Given the description of an element on the screen output the (x, y) to click on. 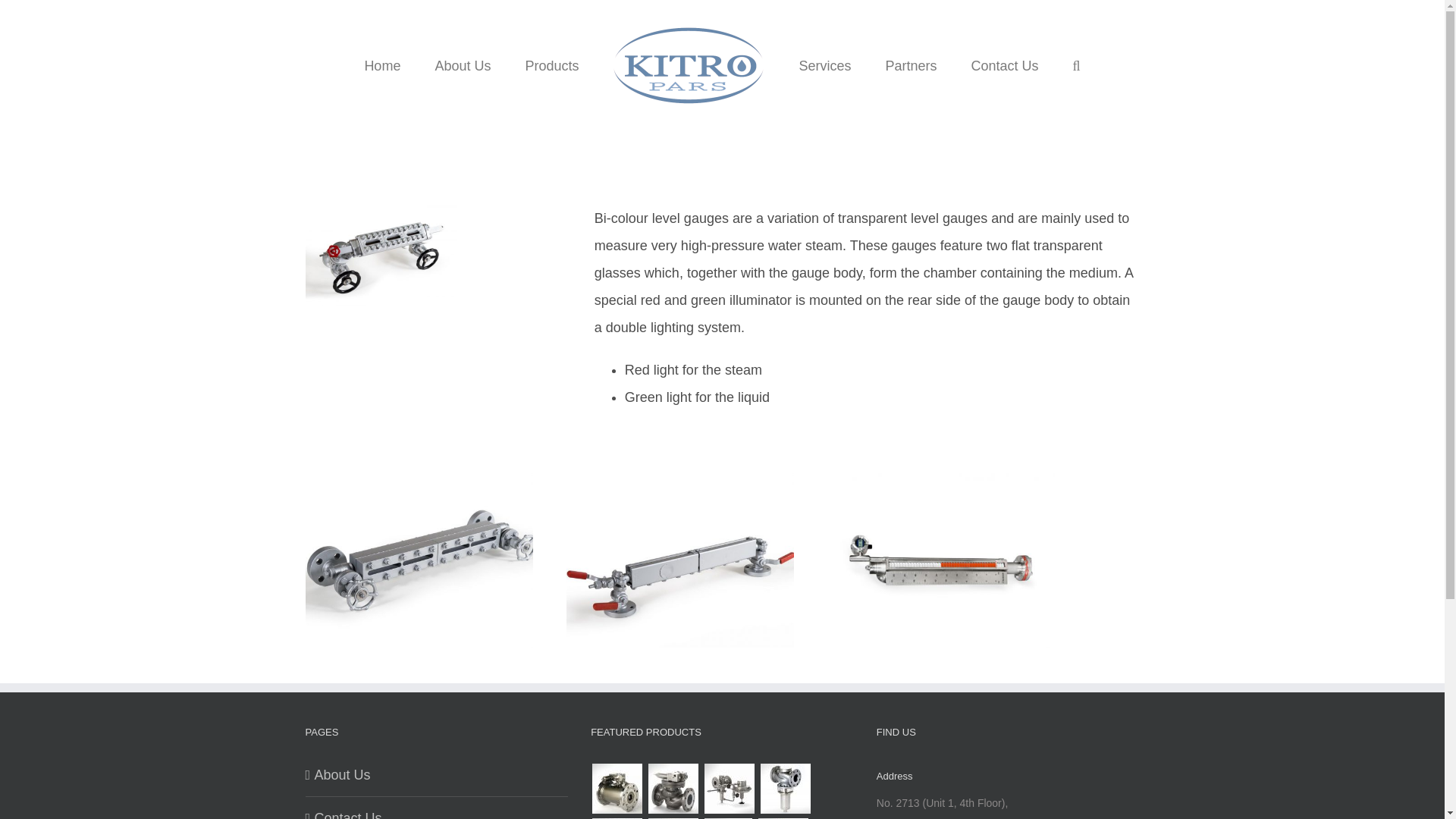
Pressure Safety Valve (783, 817)
Pilot-operated Pressure Reducing Valve (617, 788)
Pilot-operated Millibar Control Valve (729, 788)
Pressure Reducing Valve for Liquids and Gases (784, 788)
Back Pressure Regulator Valve (672, 817)
Surge Relief Valve (727, 817)
Millibar Control Valve for High Flow Rates (617, 817)
BI-COLOUR LEVEL GAUGES (380, 254)
Pilot-operated Backpressure Regulator (672, 788)
